Given the description of an element on the screen output the (x, y) to click on. 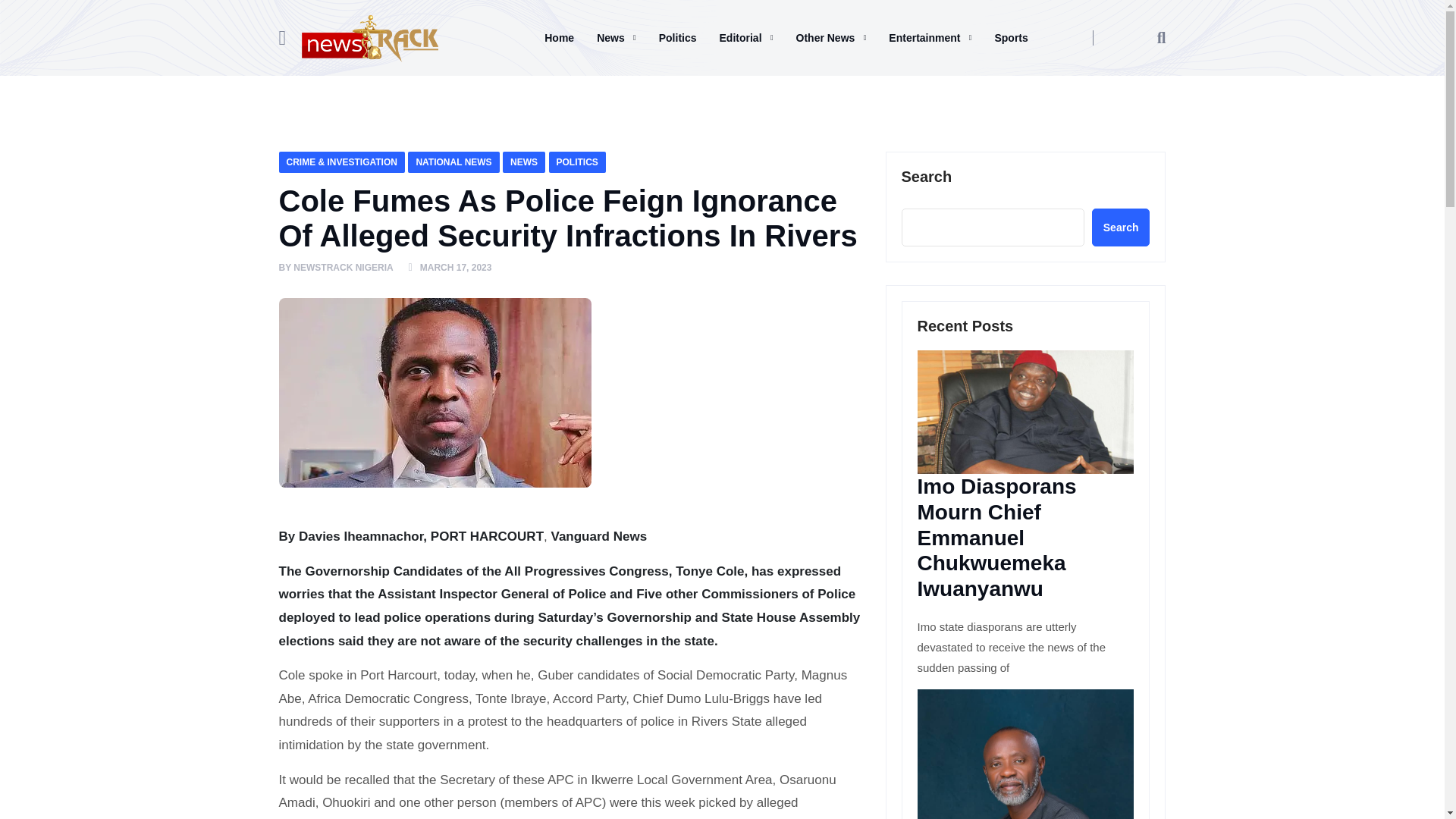
News (616, 37)
Editorial (745, 37)
Politics (677, 37)
Other News (830, 37)
Entertainment (929, 37)
